Given the description of an element on the screen output the (x, y) to click on. 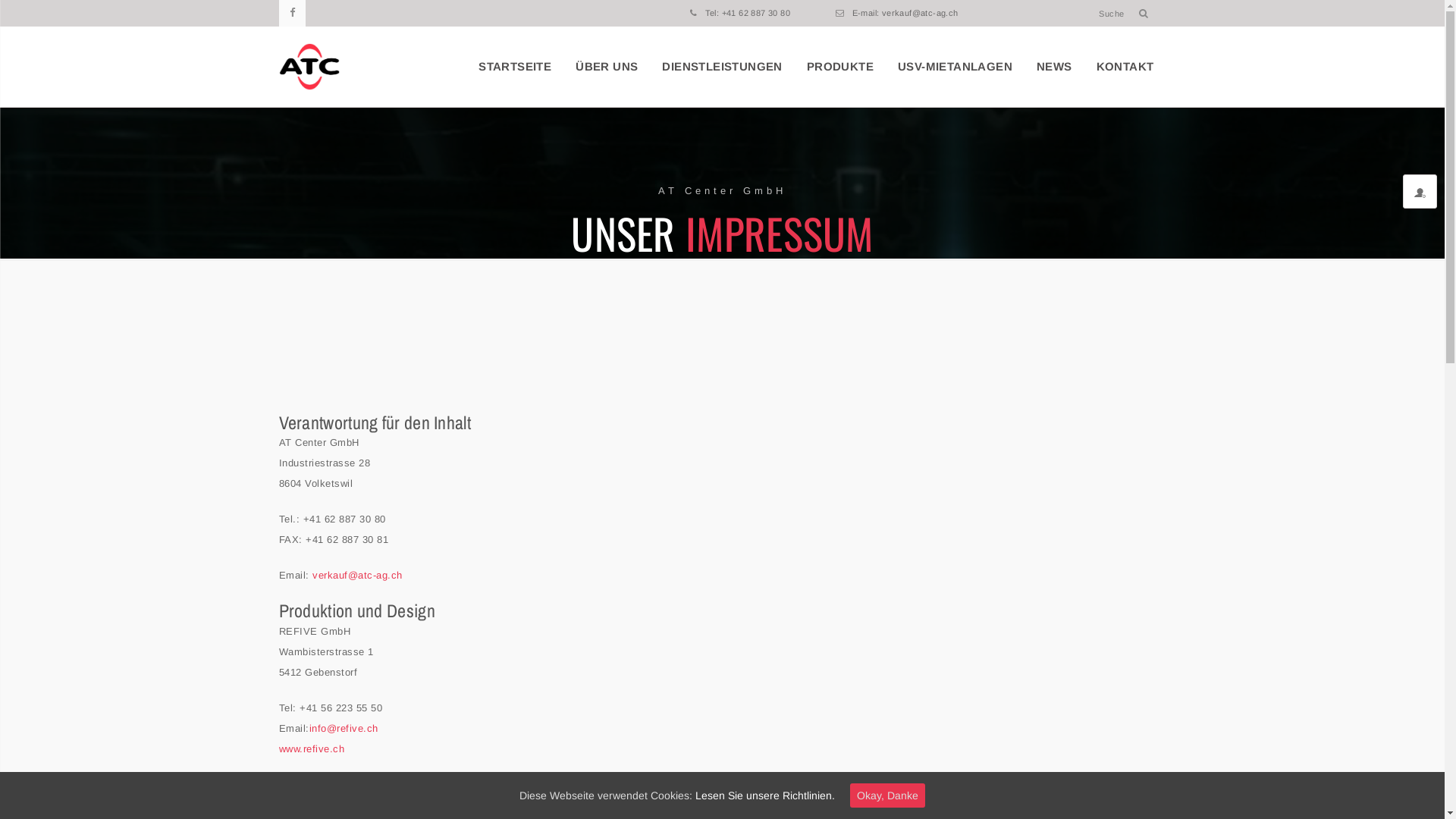
NEWS Element type: text (1054, 66)
ATC Facebook Element type: hover (292, 13)
STARTSEITE Element type: text (514, 66)
DIENSTLEISTUNGEN Element type: text (721, 66)
www.refive.ch Element type: text (312, 748)
info@refive.ch Element type: text (343, 728)
KONTAKT Element type: text (1125, 66)
PRODUKTE Element type: text (840, 66)
Lesen Sie unsere Richtlinien. Element type: text (764, 795)
ATCenter Element type: hover (309, 66)
verkauf@atc-ag.ch Element type: text (357, 574)
Okay, Danke Element type: text (887, 795)
USV-MIETANLAGEN Element type: text (954, 66)
